Given the description of an element on the screen output the (x, y) to click on. 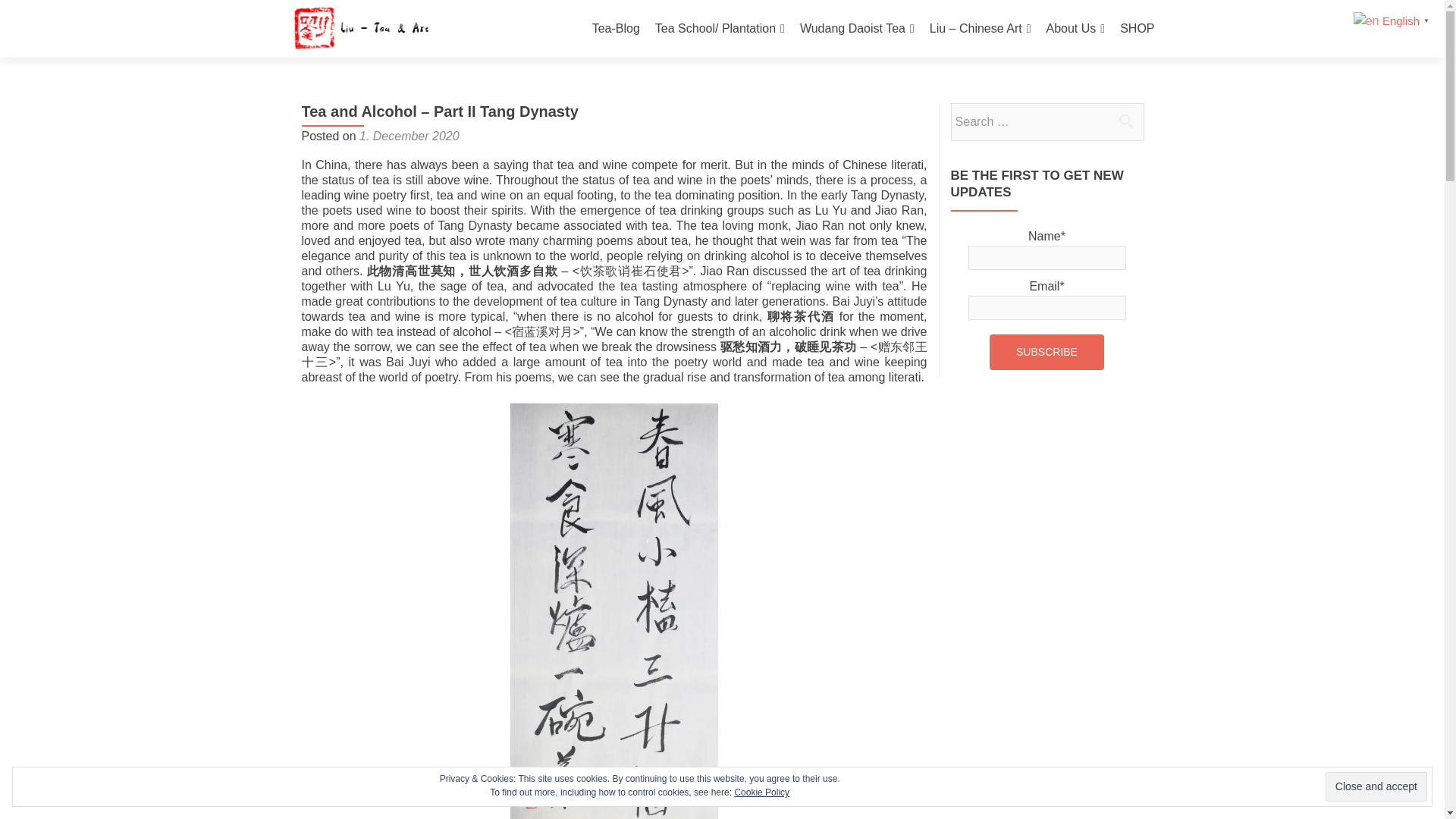
About Us (1075, 28)
Close and accept (1375, 786)
Tea-Blog (616, 28)
Search (1125, 120)
Wudang Daoist Tea (856, 28)
Subscribe (1046, 352)
Search (1125, 120)
SHOP (1136, 28)
1. December 2020 (409, 135)
